Given the description of an element on the screen output the (x, y) to click on. 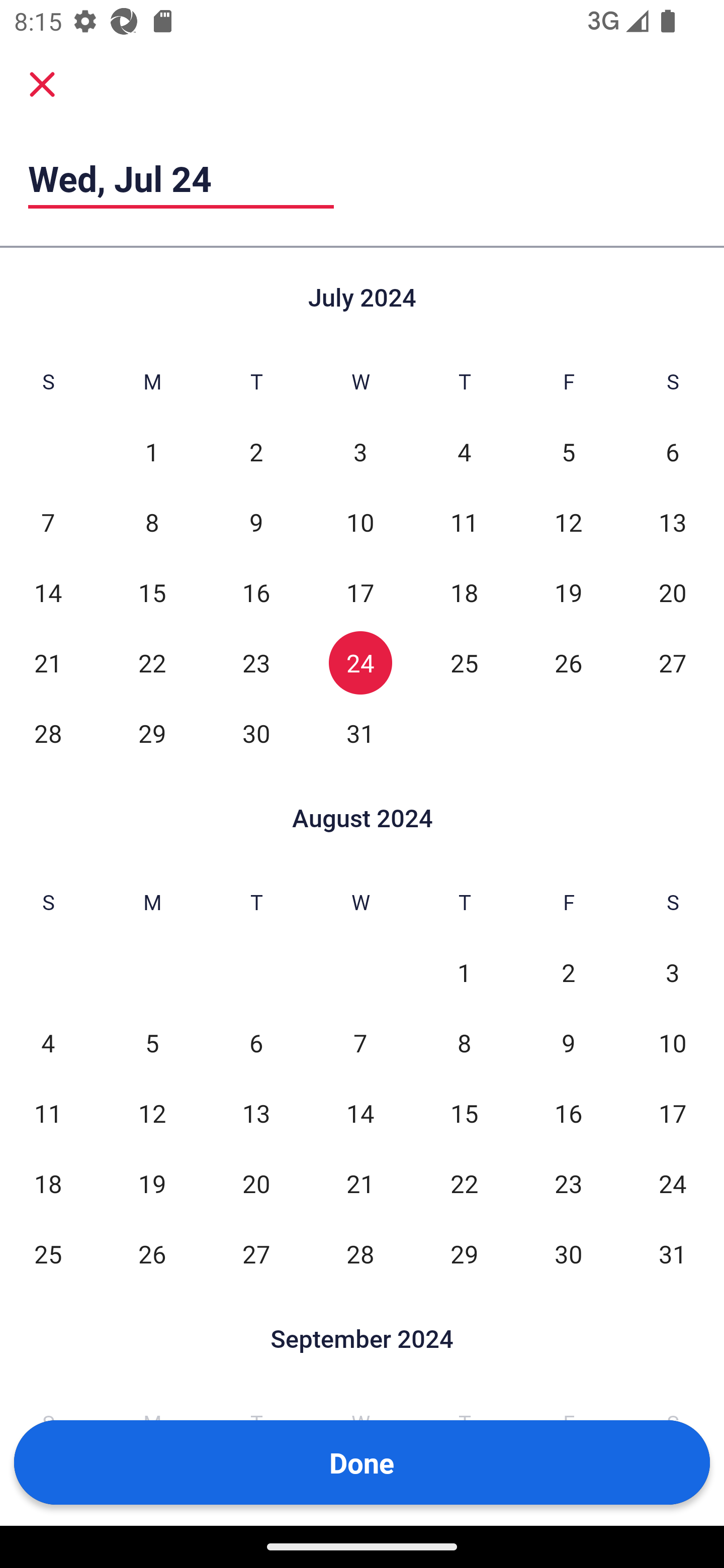
Cancel (41, 83)
Wed, Jul 24 (180, 178)
1 Mon, Jul 1, Not Selected (152, 452)
2 Tue, Jul 2, Not Selected (256, 452)
3 Wed, Jul 3, Not Selected (360, 452)
4 Thu, Jul 4, Not Selected (464, 452)
5 Fri, Jul 5, Not Selected (568, 452)
6 Sat, Jul 6, Not Selected (672, 452)
7 Sun, Jul 7, Not Selected (48, 521)
8 Mon, Jul 8, Not Selected (152, 521)
9 Tue, Jul 9, Not Selected (256, 521)
10 Wed, Jul 10, Not Selected (360, 521)
11 Thu, Jul 11, Not Selected (464, 521)
12 Fri, Jul 12, Not Selected (568, 521)
13 Sat, Jul 13, Not Selected (672, 521)
14 Sun, Jul 14, Not Selected (48, 591)
15 Mon, Jul 15, Not Selected (152, 591)
16 Tue, Jul 16, Not Selected (256, 591)
17 Wed, Jul 17, Not Selected (360, 591)
18 Thu, Jul 18, Not Selected (464, 591)
19 Fri, Jul 19, Not Selected (568, 591)
20 Sat, Jul 20, Not Selected (672, 591)
21 Sun, Jul 21, Not Selected (48, 662)
22 Mon, Jul 22, Not Selected (152, 662)
23 Tue, Jul 23, Not Selected (256, 662)
24 Wed, Jul 24, Selected (360, 662)
25 Thu, Jul 25, Not Selected (464, 662)
26 Fri, Jul 26, Not Selected (568, 662)
27 Sat, Jul 27, Not Selected (672, 662)
28 Sun, Jul 28, Not Selected (48, 732)
29 Mon, Jul 29, Not Selected (152, 732)
30 Tue, Jul 30, Not Selected (256, 732)
31 Wed, Jul 31, Not Selected (360, 732)
1 Thu, Aug 1, Not Selected (464, 972)
2 Fri, Aug 2, Not Selected (568, 972)
3 Sat, Aug 3, Not Selected (672, 972)
4 Sun, Aug 4, Not Selected (48, 1043)
5 Mon, Aug 5, Not Selected (152, 1043)
6 Tue, Aug 6, Not Selected (256, 1043)
7 Wed, Aug 7, Not Selected (360, 1043)
8 Thu, Aug 8, Not Selected (464, 1043)
9 Fri, Aug 9, Not Selected (568, 1043)
10 Sat, Aug 10, Not Selected (672, 1043)
11 Sun, Aug 11, Not Selected (48, 1112)
12 Mon, Aug 12, Not Selected (152, 1112)
13 Tue, Aug 13, Not Selected (256, 1112)
14 Wed, Aug 14, Not Selected (360, 1112)
15 Thu, Aug 15, Not Selected (464, 1112)
16 Fri, Aug 16, Not Selected (568, 1112)
17 Sat, Aug 17, Not Selected (672, 1112)
18 Sun, Aug 18, Not Selected (48, 1182)
19 Mon, Aug 19, Not Selected (152, 1182)
20 Tue, Aug 20, Not Selected (256, 1182)
21 Wed, Aug 21, Not Selected (360, 1182)
22 Thu, Aug 22, Not Selected (464, 1182)
23 Fri, Aug 23, Not Selected (568, 1182)
24 Sat, Aug 24, Not Selected (672, 1182)
25 Sun, Aug 25, Not Selected (48, 1253)
26 Mon, Aug 26, Not Selected (152, 1253)
27 Tue, Aug 27, Not Selected (256, 1253)
28 Wed, Aug 28, Not Selected (360, 1253)
29 Thu, Aug 29, Not Selected (464, 1253)
30 Fri, Aug 30, Not Selected (568, 1253)
31 Sat, Aug 31, Not Selected (672, 1253)
Done Button Done (361, 1462)
